Given the description of an element on the screen output the (x, y) to click on. 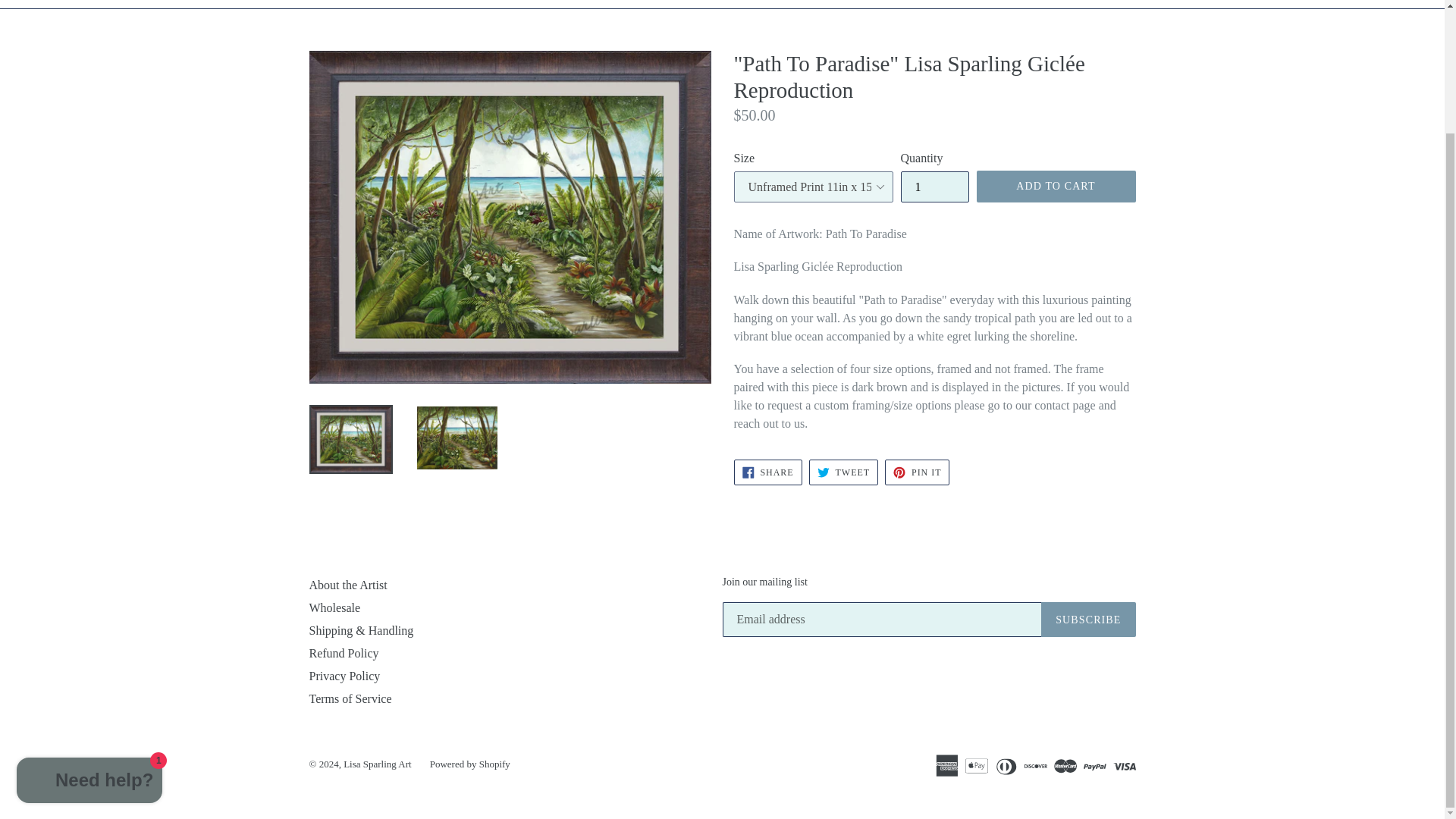
1 (935, 186)
Share on Facebook (767, 472)
Shopify online store chat (89, 633)
Tweet on Twitter (843, 472)
Pin on Pinterest (917, 472)
